Given the description of an element on the screen output the (x, y) to click on. 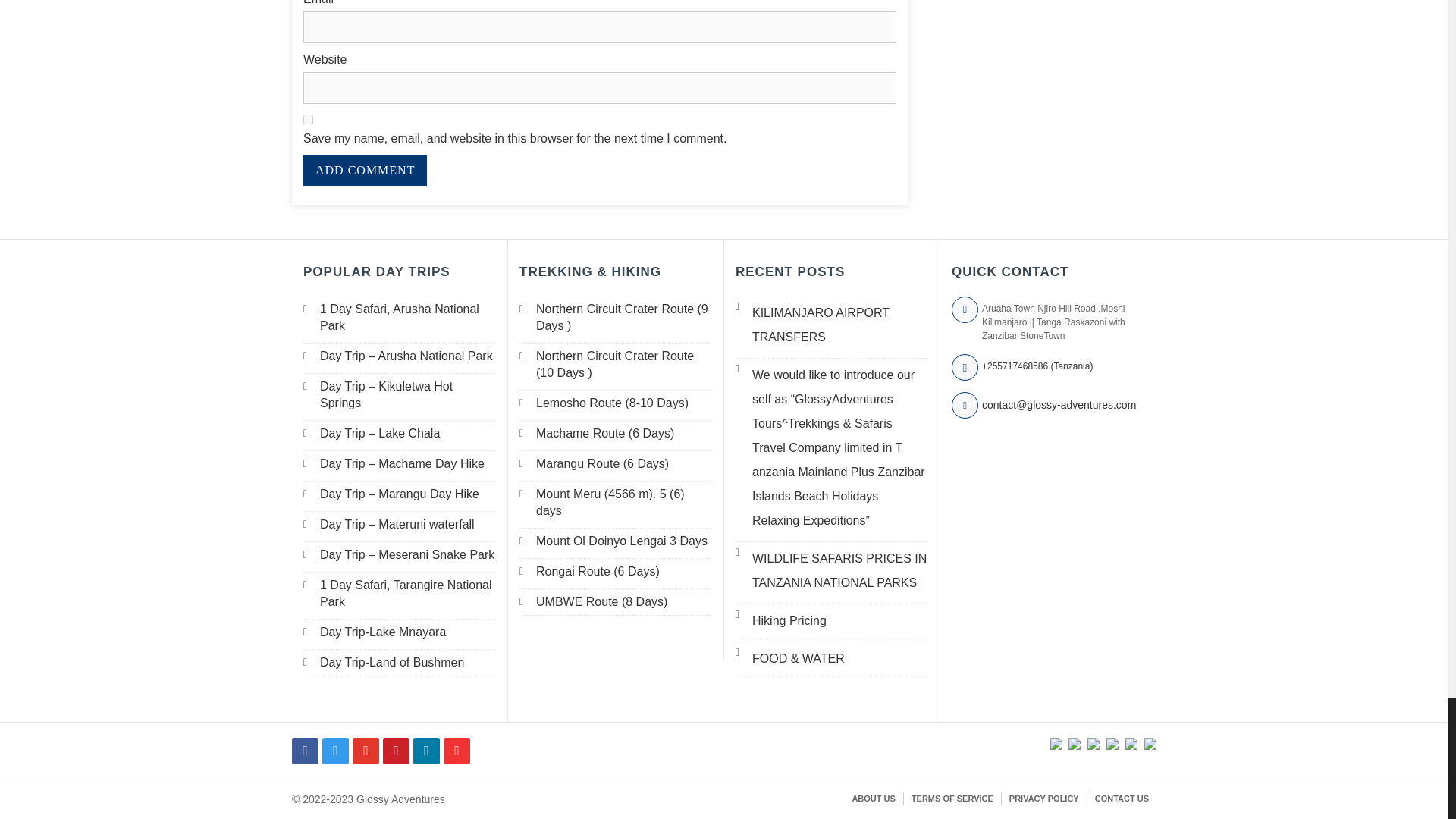
ADD COMMENT (364, 170)
yes (307, 119)
